Given the description of an element on the screen output the (x, y) to click on. 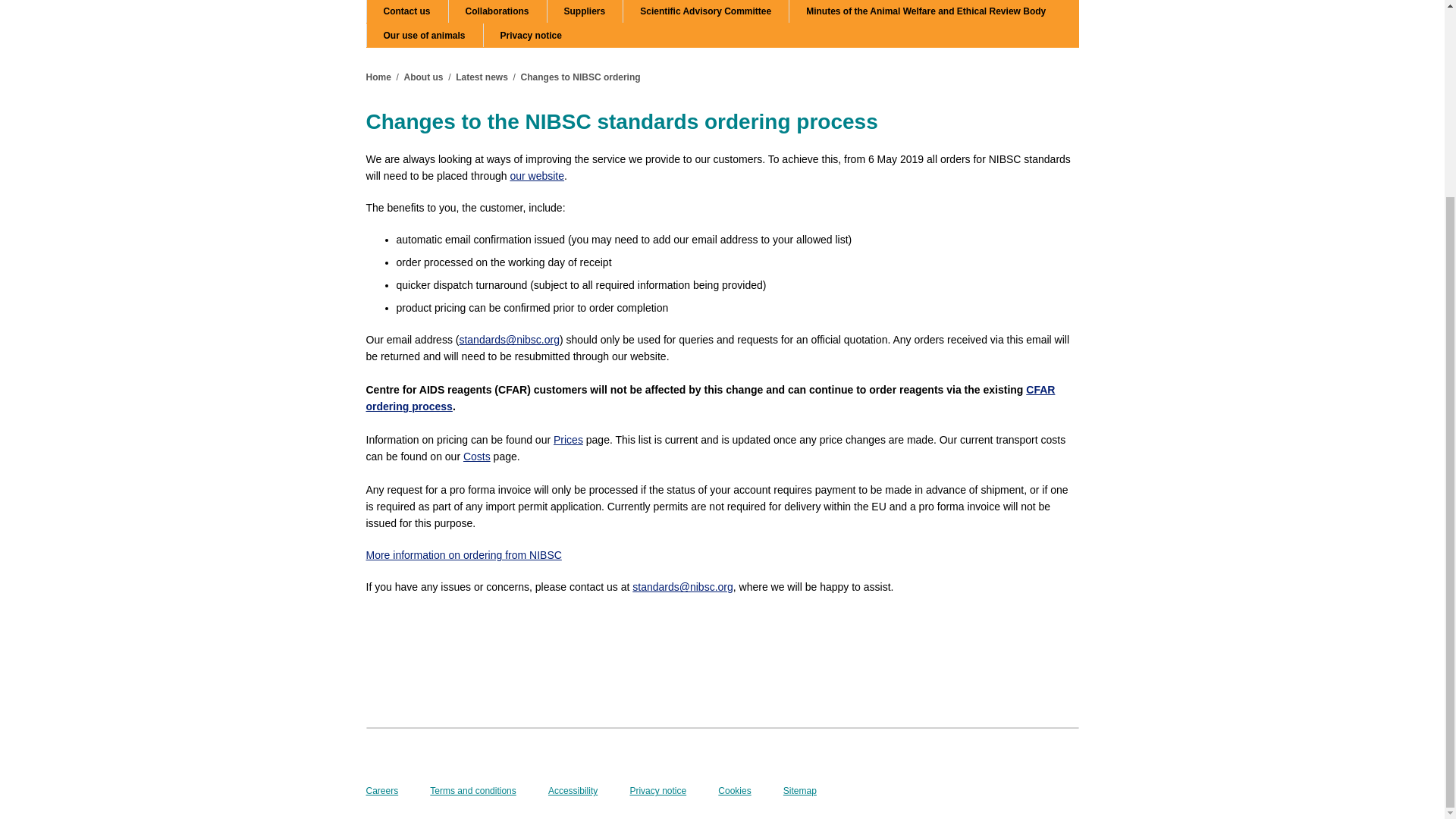
Latest news (481, 77)
Costs (476, 456)
Careers (381, 790)
Minutes of the Animal Welfare and Ethical Review Body (925, 11)
CFAR ordering process (709, 398)
Home (377, 77)
Terms and conditions (472, 790)
Suppliers (585, 11)
Collaborations (497, 11)
Changes to NIBSC ordering (580, 77)
